Given the description of an element on the screen output the (x, y) to click on. 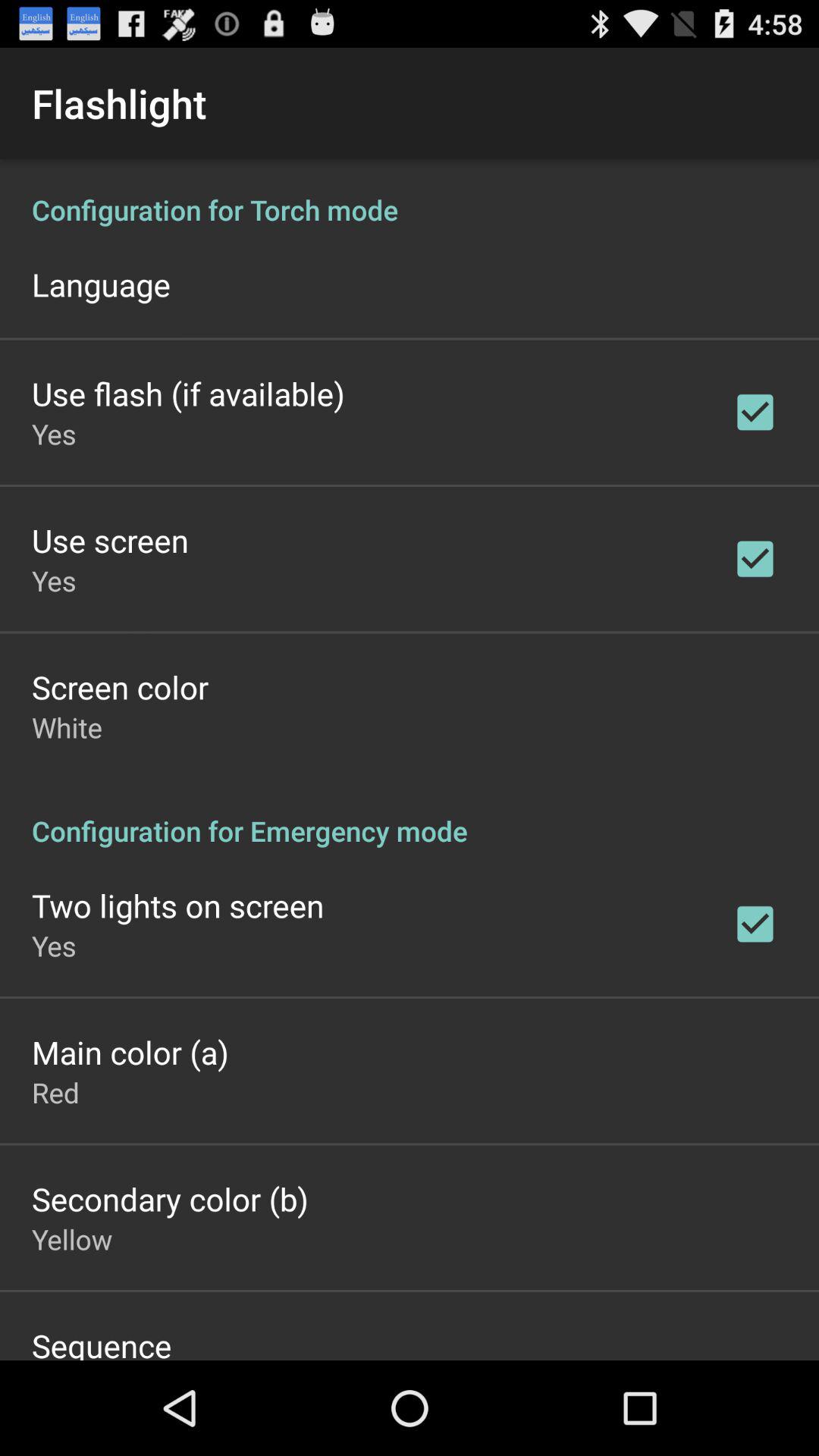
turn off the icon below screen color icon (66, 727)
